Given the description of an element on the screen output the (x, y) to click on. 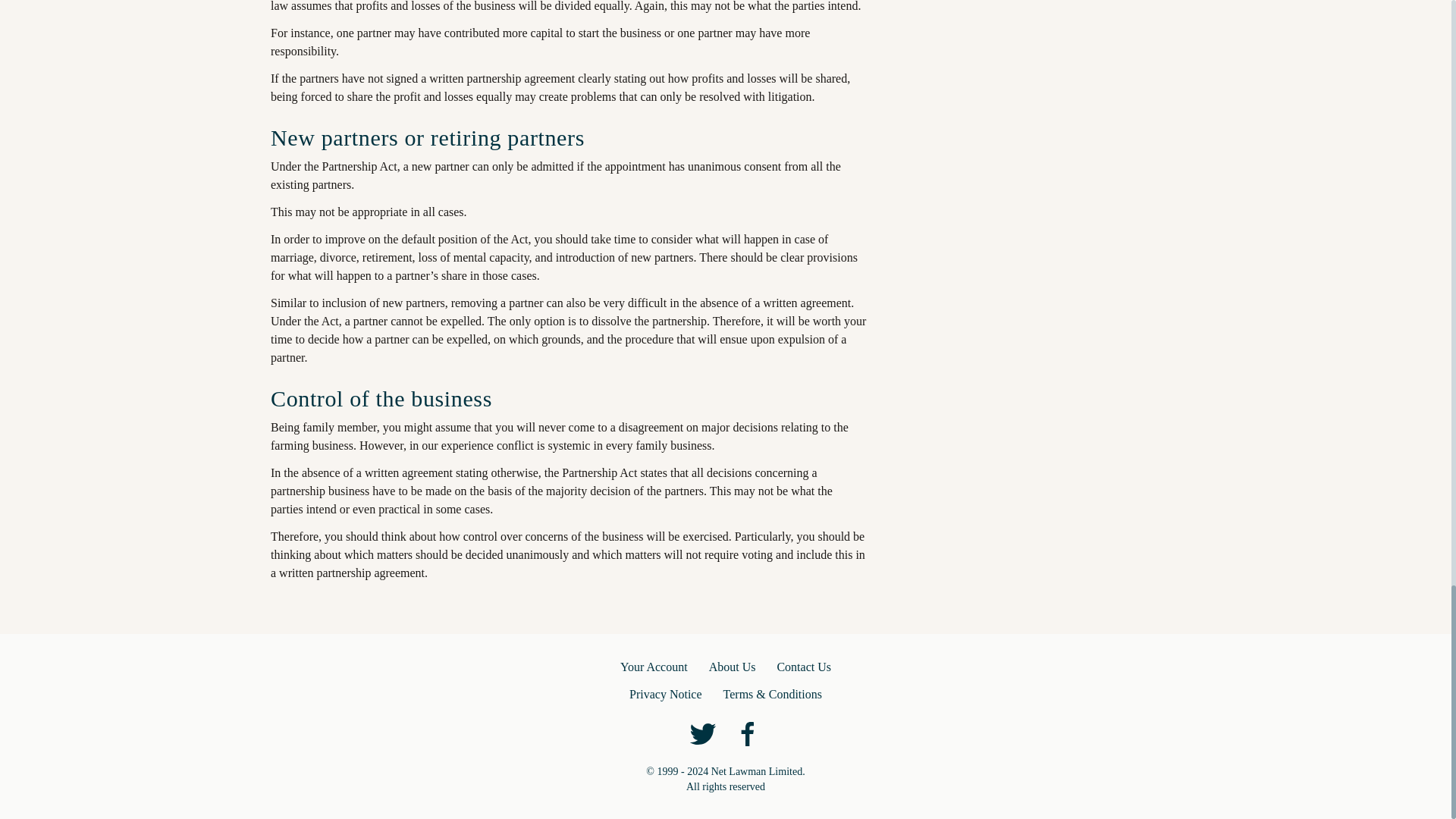
Privacy Notice (664, 694)
Contact Us (803, 667)
Your Account (653, 667)
About Us (732, 667)
